Given the description of an element on the screen output the (x, y) to click on. 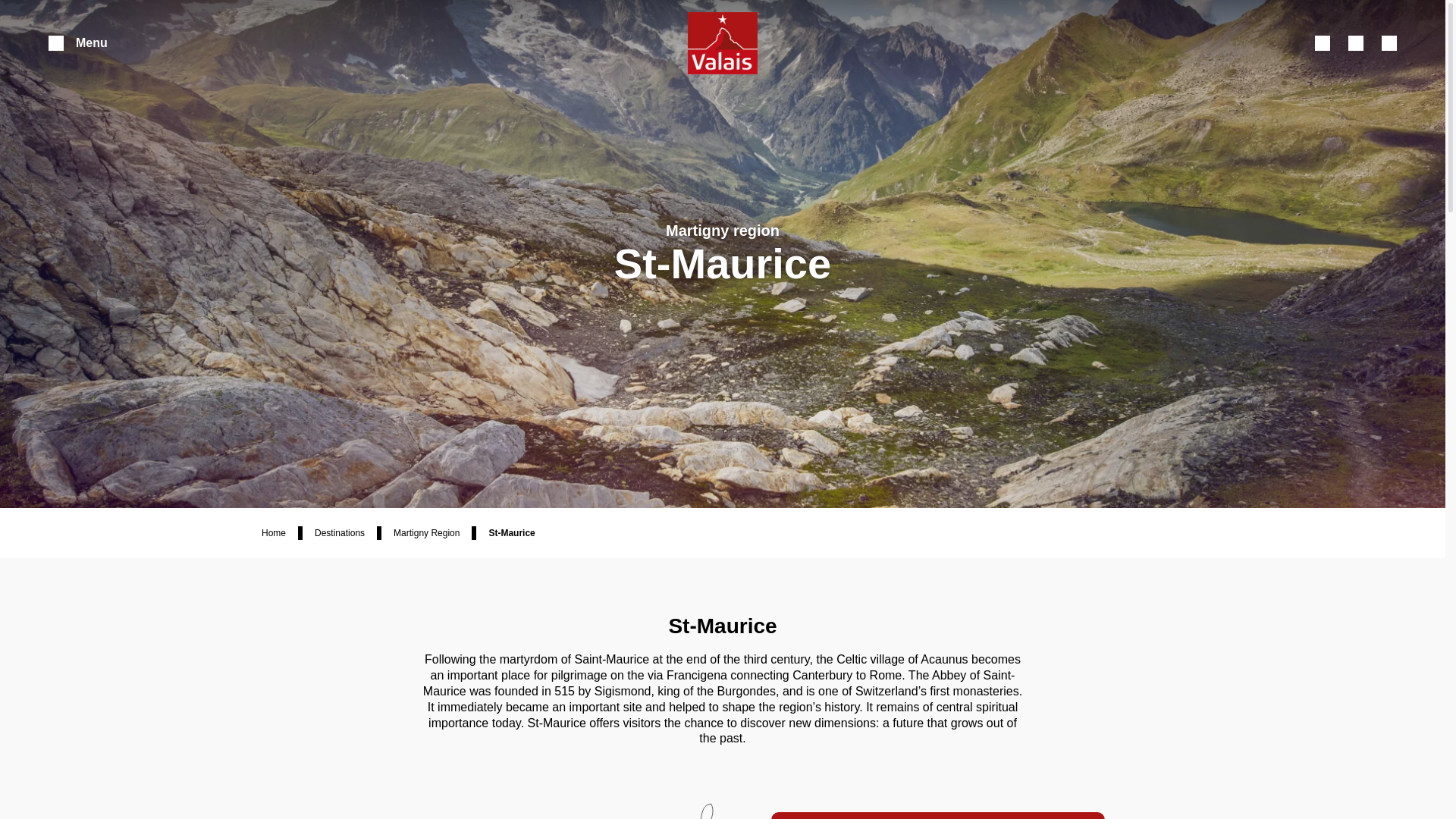
Shopping cart (1356, 42)
Menu (77, 42)
Show interactive map (1389, 42)
Shopping cart (1356, 42)
Search (1322, 42)
